Given the description of an element on the screen output the (x, y) to click on. 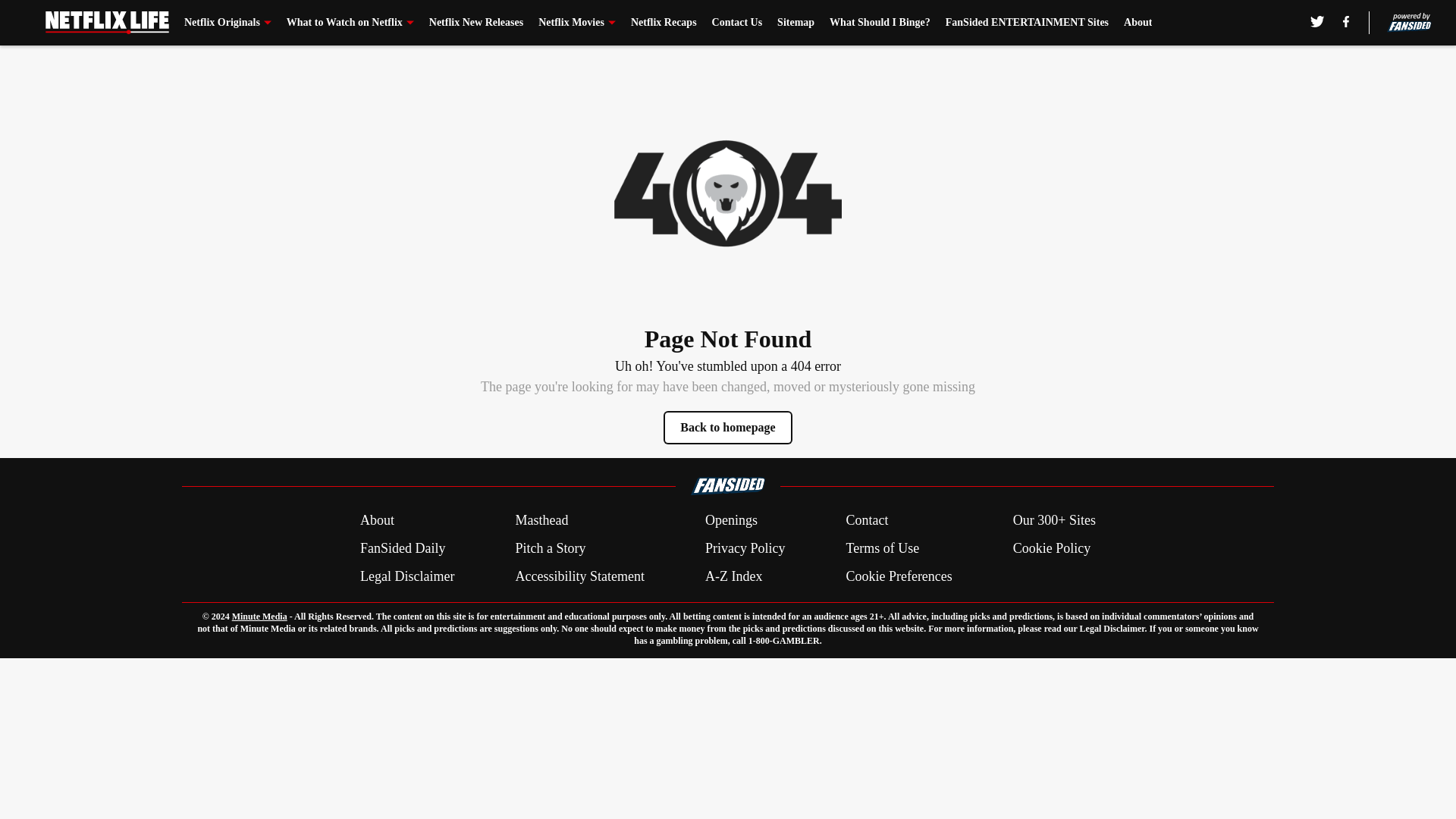
Netflix Movies (576, 22)
What to Watch on Netflix (349, 22)
Netflix Originals (227, 22)
Netflix New Releases (475, 22)
Error image (727, 193)
